Given the description of an element on the screen output the (x, y) to click on. 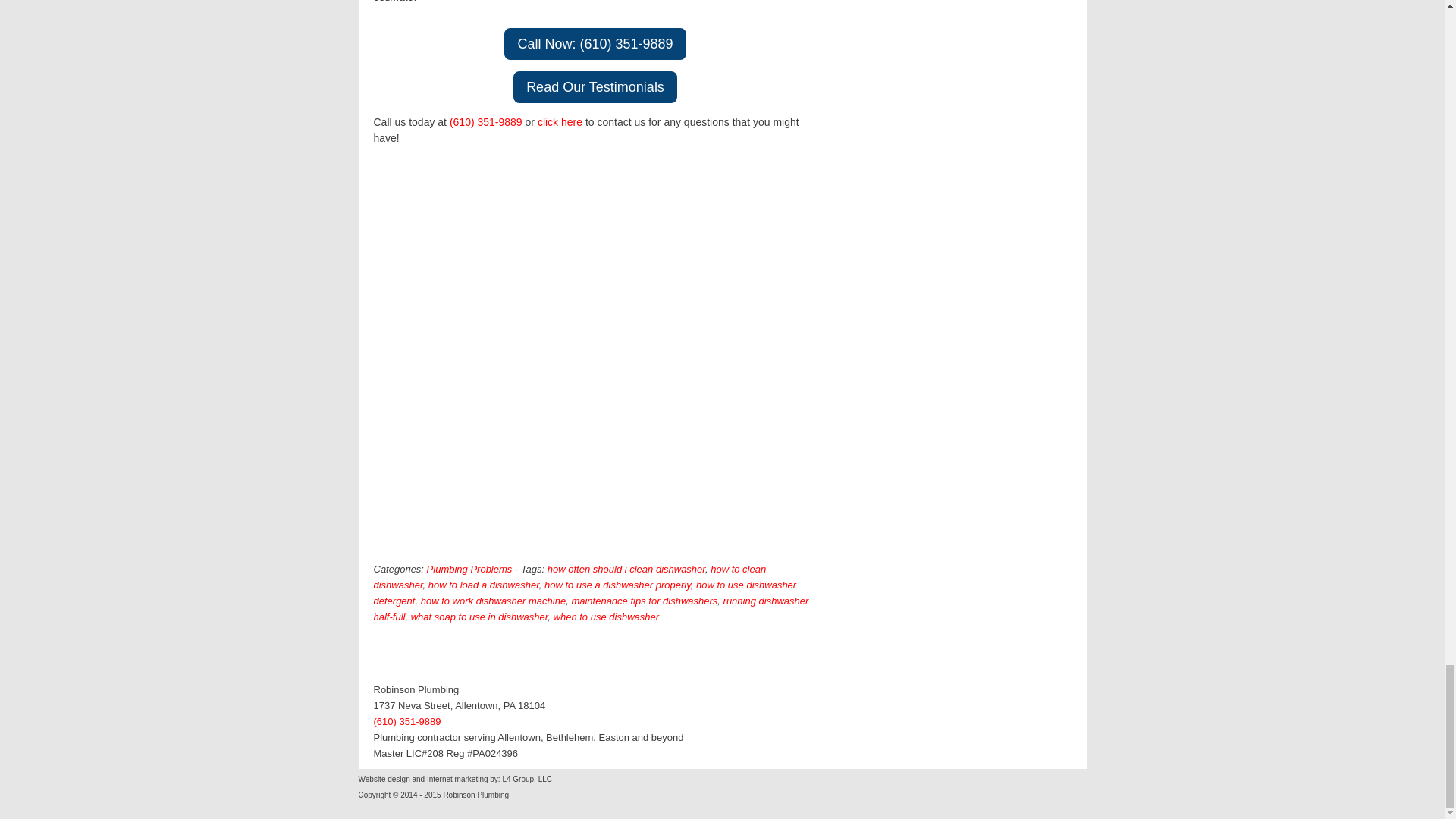
click here (559, 121)
Plumbing Problems (469, 568)
how to clean dishwasher (568, 576)
how to load a dishwasher (483, 584)
how often should i clean dishwasher (625, 568)
Read Our Testimonials (595, 87)
